Given the description of an element on the screen output the (x, y) to click on. 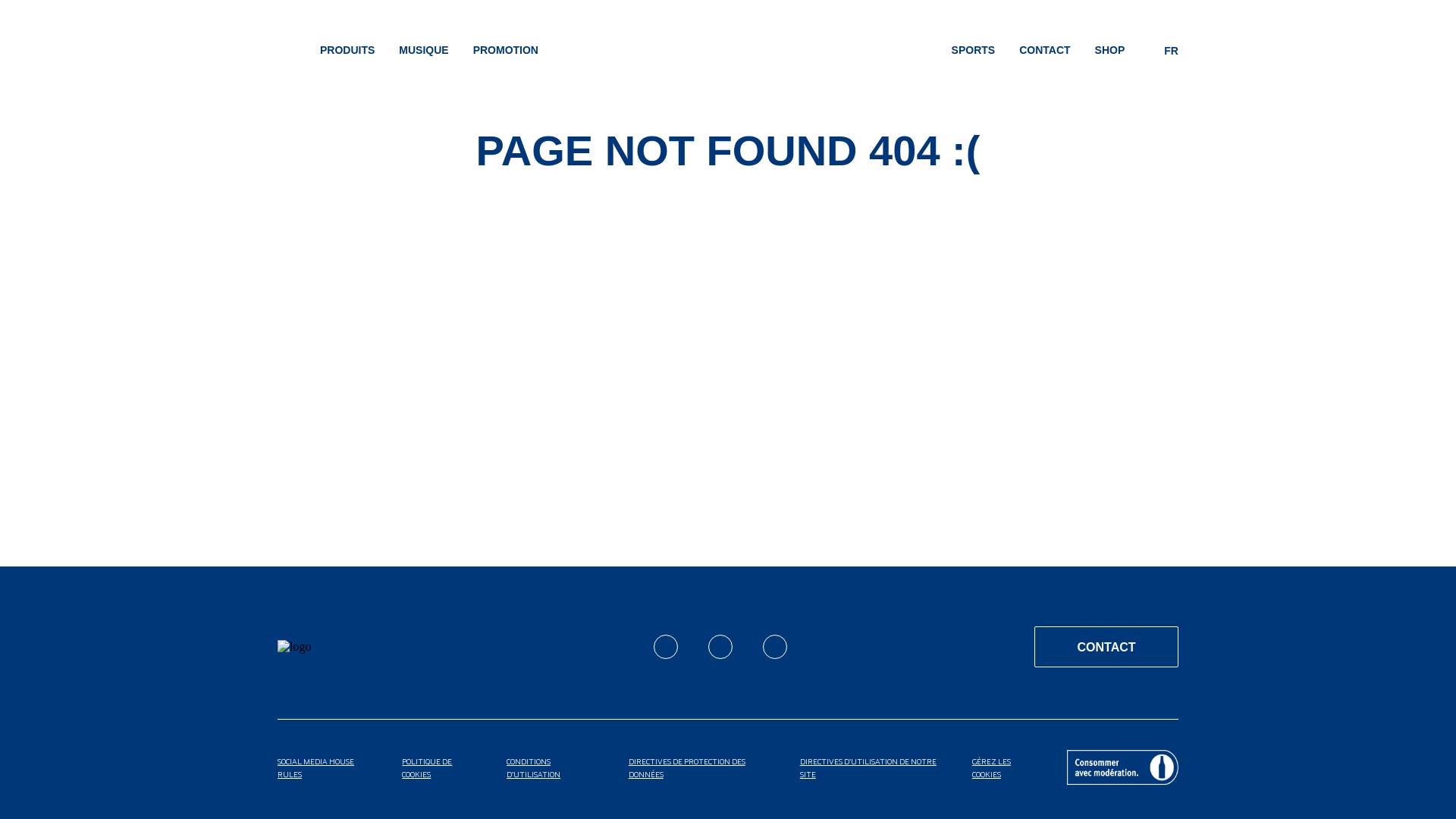
CONDITIONS D'UTILISATION Element type: text (552, 768)
MUSIQUE Element type: text (423, 53)
PROMOTION Element type: text (505, 53)
CONTACT Element type: text (1106, 646)
SOCIAL MEDIA HOUSE RULES Element type: text (324, 768)
CONTACT Element type: text (1044, 53)
DIRECTIVES D'UTILISATION DE NOTRE SITE Element type: text (870, 768)
SHOP Element type: text (1110, 53)
SPORTS Element type: text (973, 53)
PRODUITS Element type: text (347, 53)
POLITIQUE DE COOKIES Element type: text (438, 768)
